Given the description of an element on the screen output the (x, y) to click on. 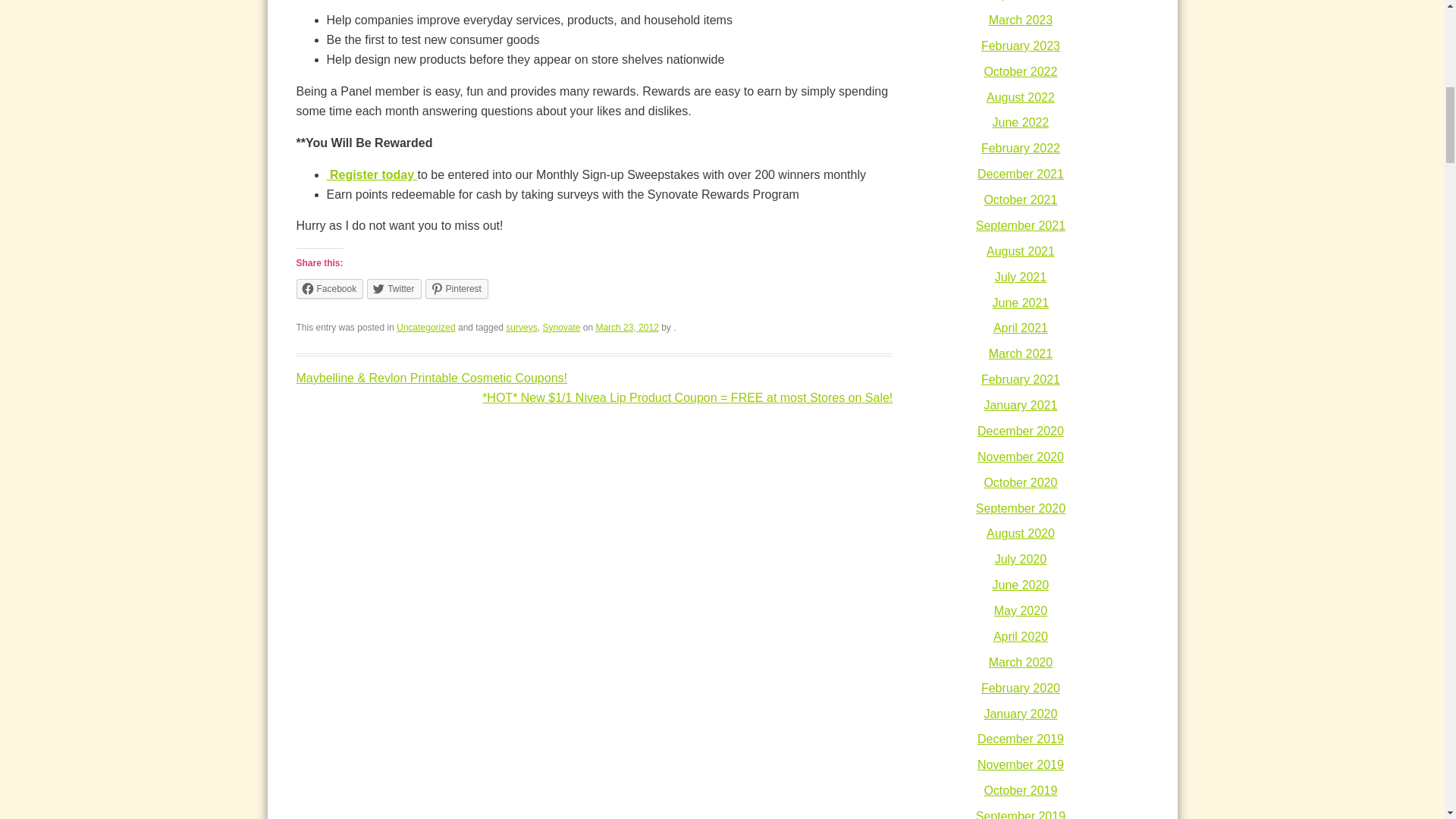
Click to share on Twitter (393, 288)
Click to share on Pinterest (456, 288)
Click to share on Facebook (328, 288)
2:23 pm (626, 327)
